Given the description of an element on the screen output the (x, y) to click on. 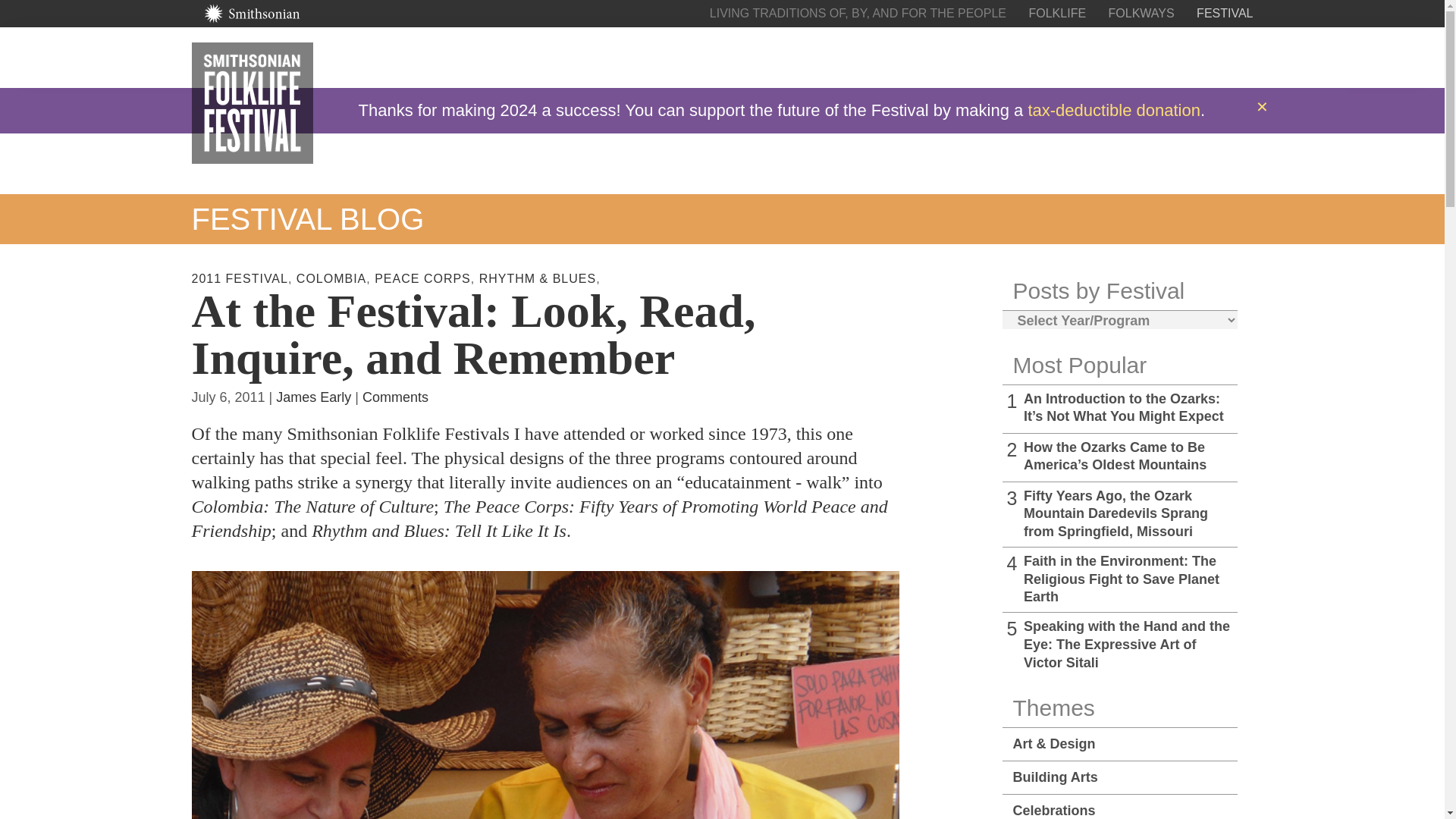
FOLKLIFE (1056, 12)
share (1198, 57)
share (1198, 56)
FOLKWAYS (1141, 12)
search (1152, 57)
search (1152, 56)
menu (1243, 57)
menu (1244, 56)
FESTIVAL (1224, 12)
